Given the description of an element on the screen output the (x, y) to click on. 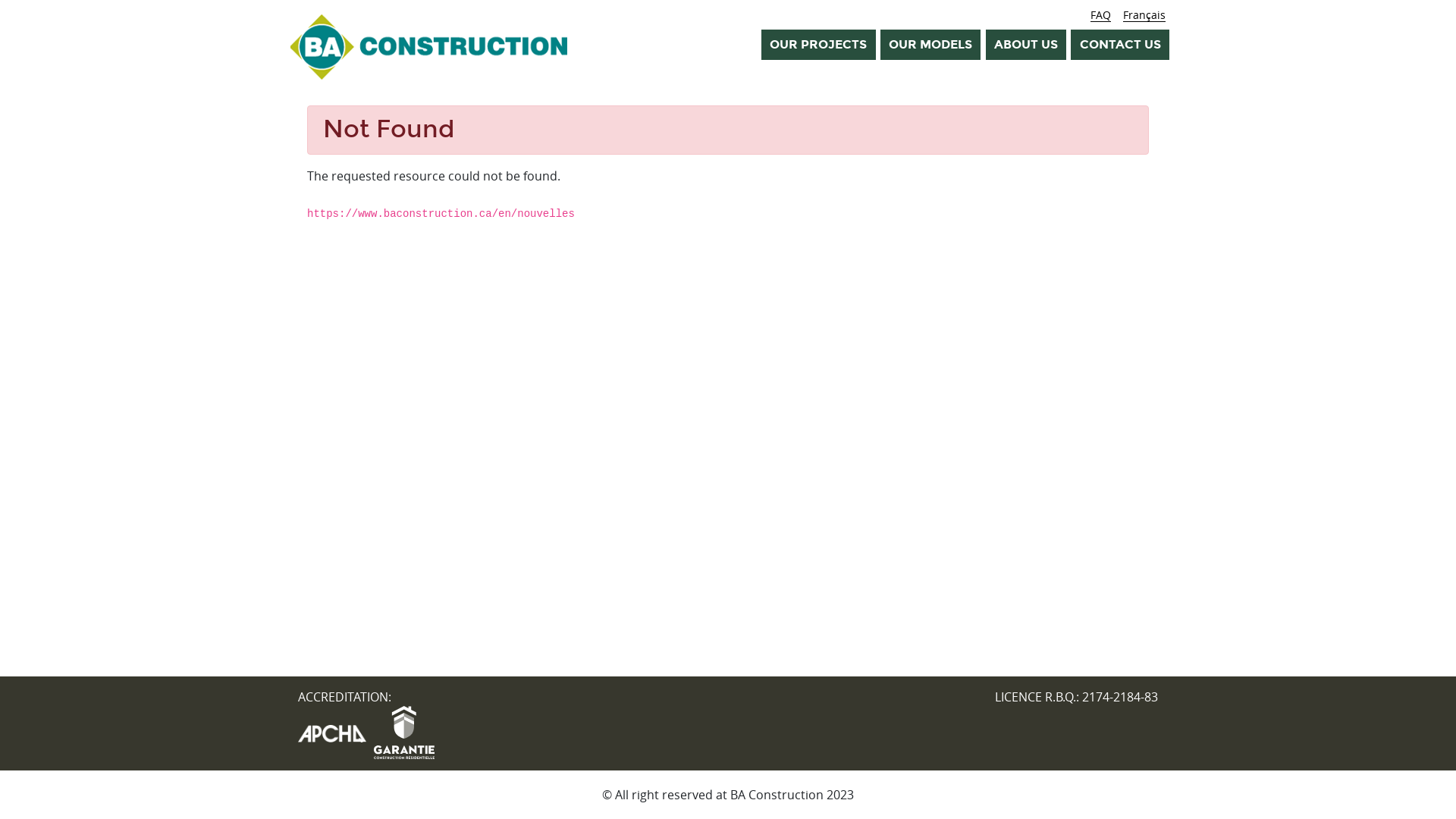
OUR PROJECTS Element type: text (818, 44)
OUR MODELS Element type: text (930, 44)
FAQ Element type: text (1100, 14)
CONTACT US Element type: text (1119, 44)
ABOUT US Element type: text (1025, 44)
